Given the description of an element on the screen output the (x, y) to click on. 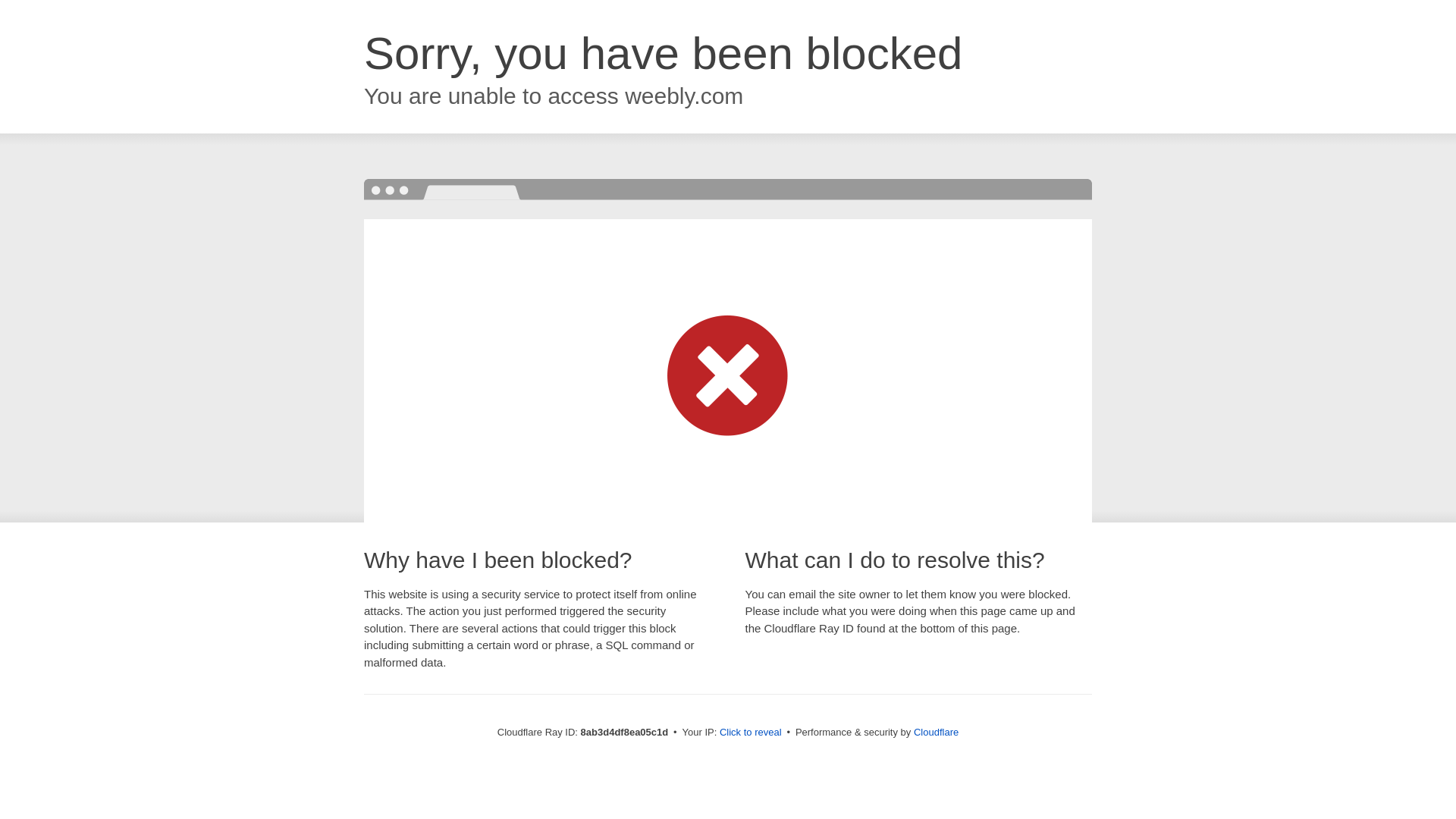
Click to reveal (750, 732)
Cloudflare (936, 731)
